Given the description of an element on the screen output the (x, y) to click on. 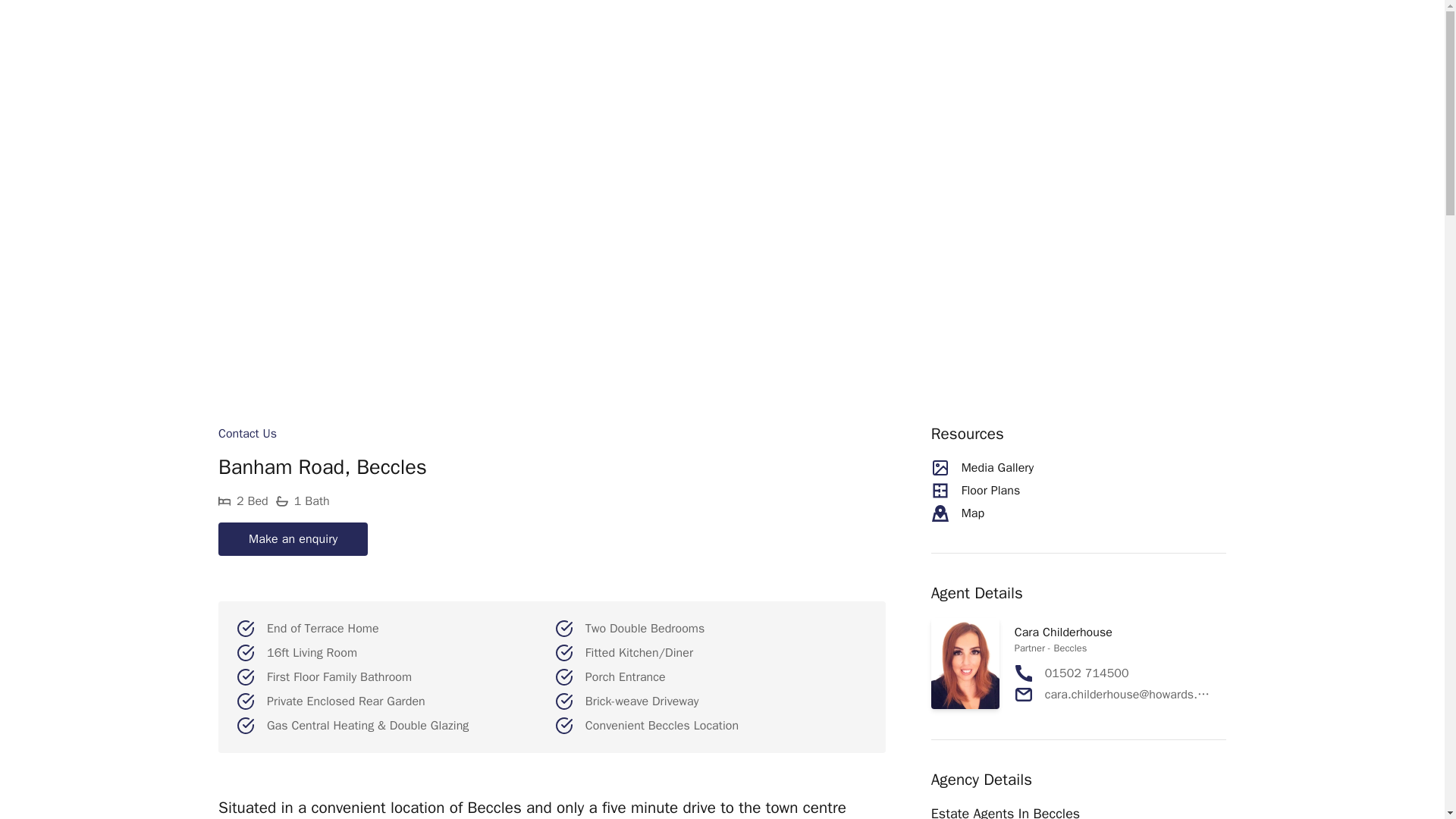
Make an enquiry (292, 539)
01502 714500 (1087, 673)
Make an enquiry (293, 539)
Cara Childerhouse (1063, 632)
